Given the description of an element on the screen output the (x, y) to click on. 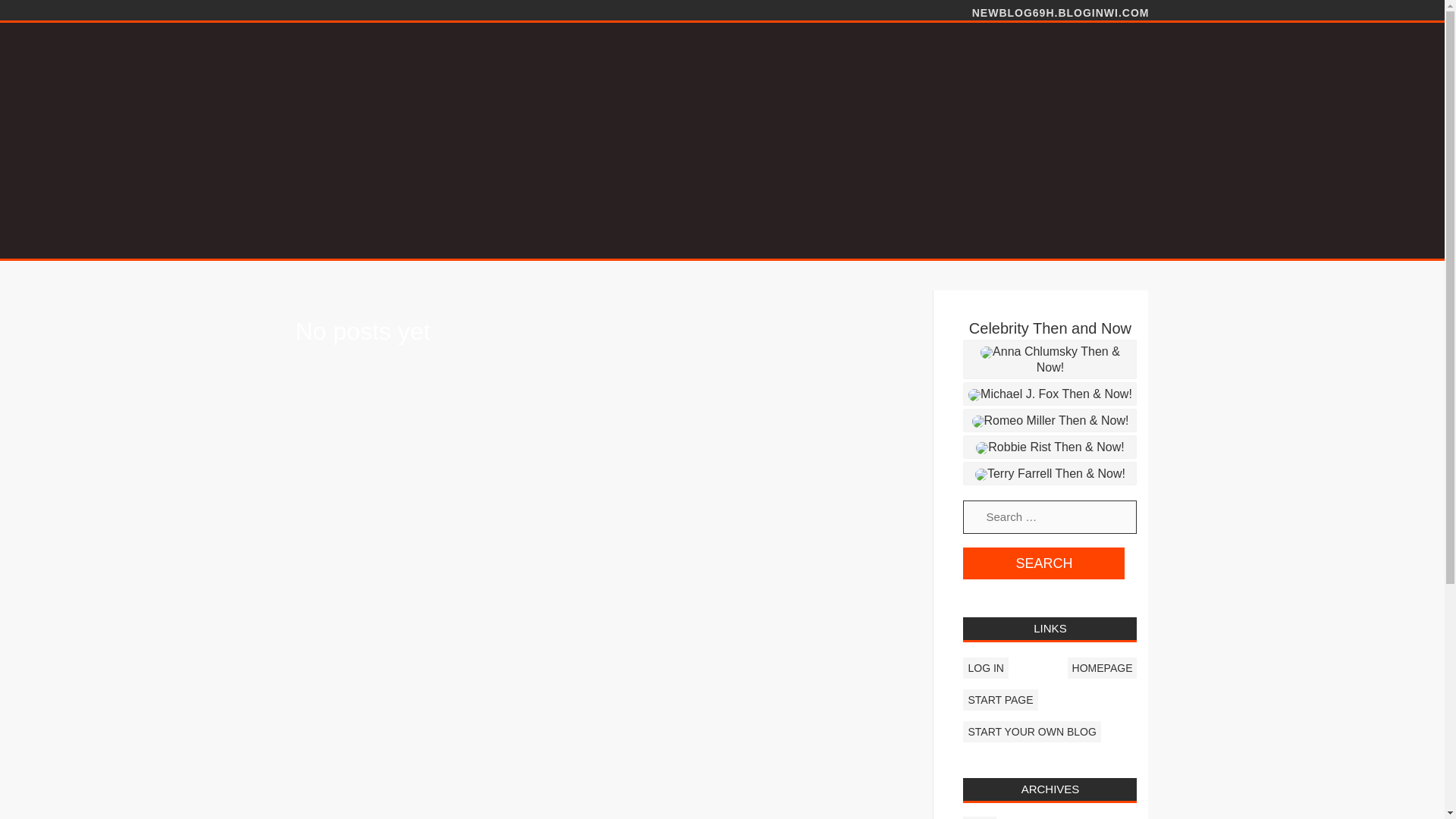
HOMEPAGE (1102, 667)
LOG IN (984, 667)
Search (1043, 563)
Skip to content (45, 7)
START PAGE (999, 699)
Search (1043, 563)
NEWBLOG69H.BLOGINWI.COM (1061, 11)
2024 (978, 817)
START YOUR OWN BLOG (1031, 731)
Search (1043, 563)
